Given the description of an element on the screen output the (x, y) to click on. 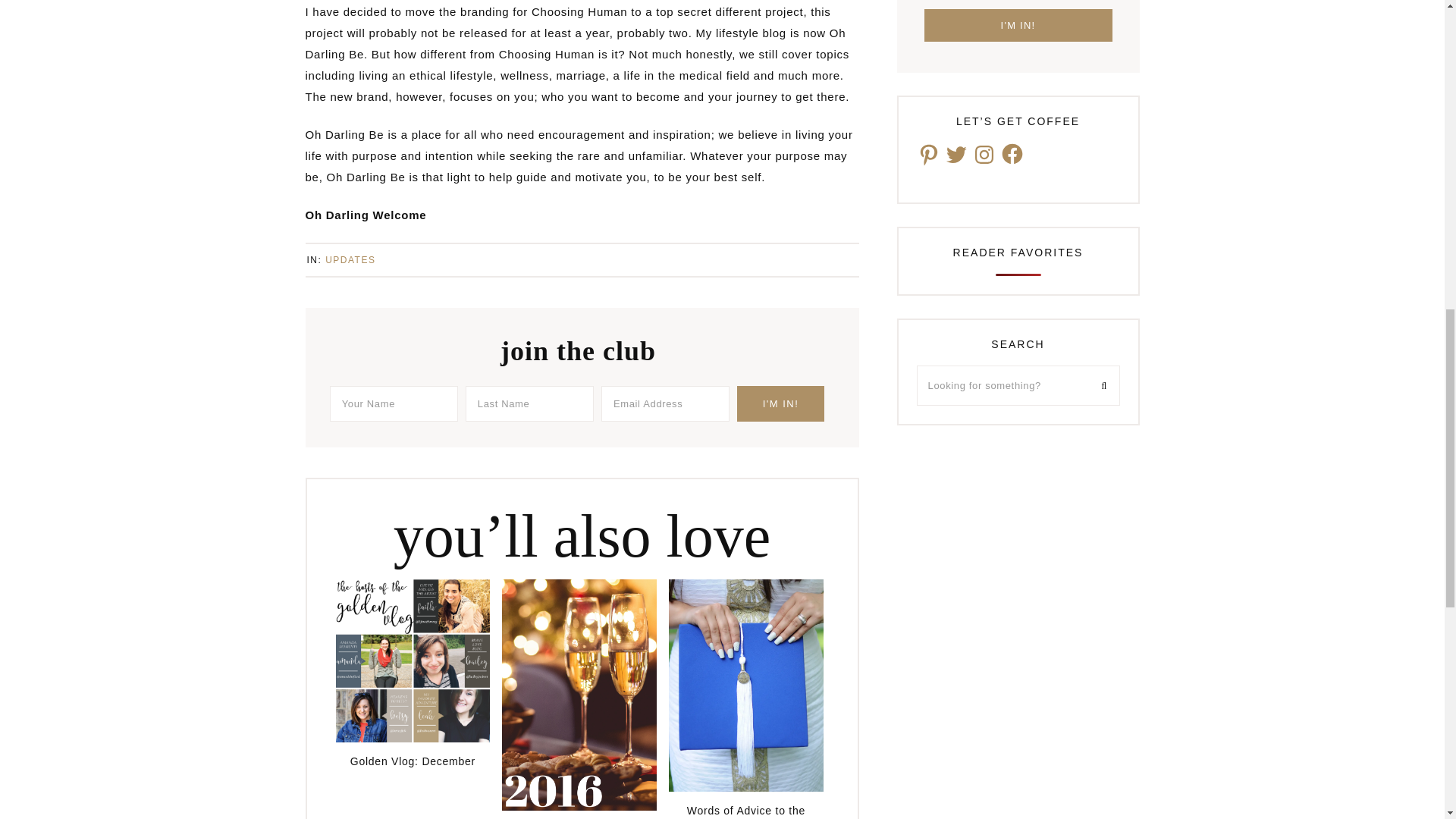
I'm In! (780, 403)
Permanent Link to 2016 (579, 806)
Words of Advice to the Class of 2017 (746, 808)
I'm In! (780, 403)
Permanent Link to Golden Vlog: December (411, 738)
I'm in! (1017, 25)
Permanent Link to Words of Advice to the Class of 2017 (746, 787)
Permanent Link to Golden Vlog: December (411, 759)
UPDATES (349, 259)
Golden Vlog: December (411, 759)
Permanent Link to Words of Advice to the Class of 2017 (746, 808)
I'm in! (1017, 25)
